Given the description of an element on the screen output the (x, y) to click on. 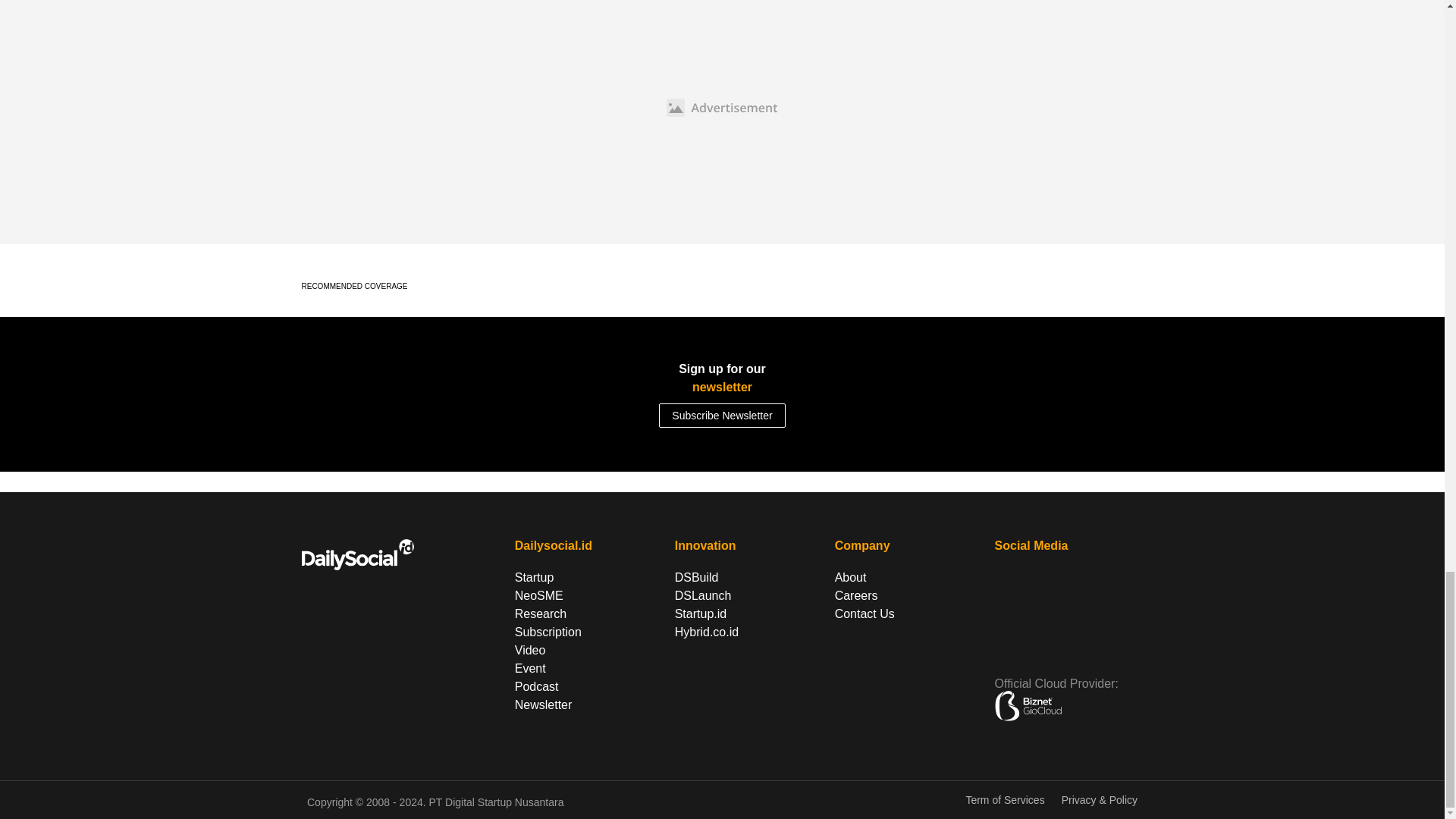
DS Build (695, 577)
